Given the description of an element on the screen output the (x, y) to click on. 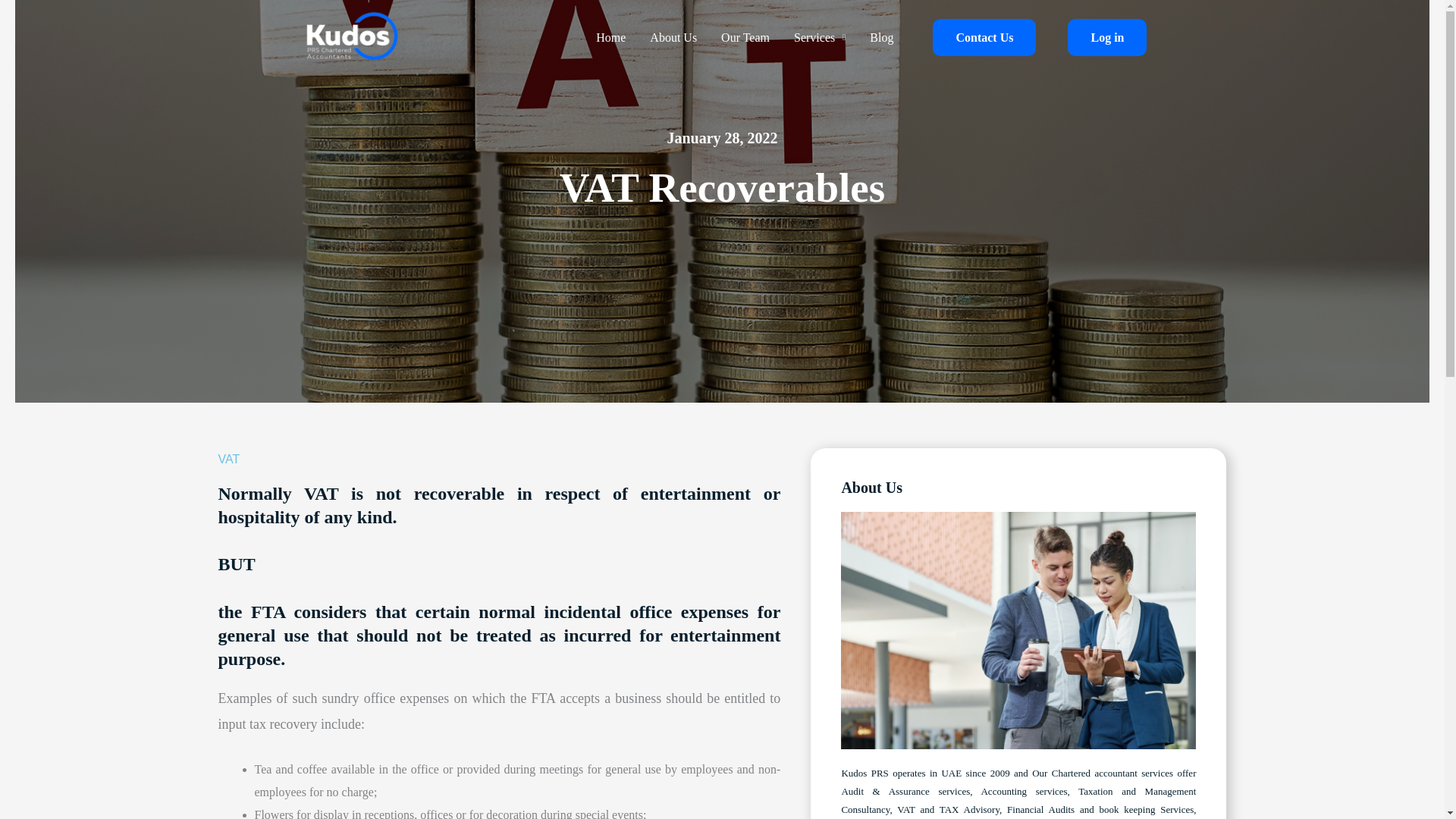
VAT Recoverables (721, 191)
VAT (499, 456)
About Us (669, 37)
Services (673, 37)
Log in (819, 37)
January 28, 2022 (1107, 37)
Contact Us (721, 144)
